Given the description of an element on the screen output the (x, y) to click on. 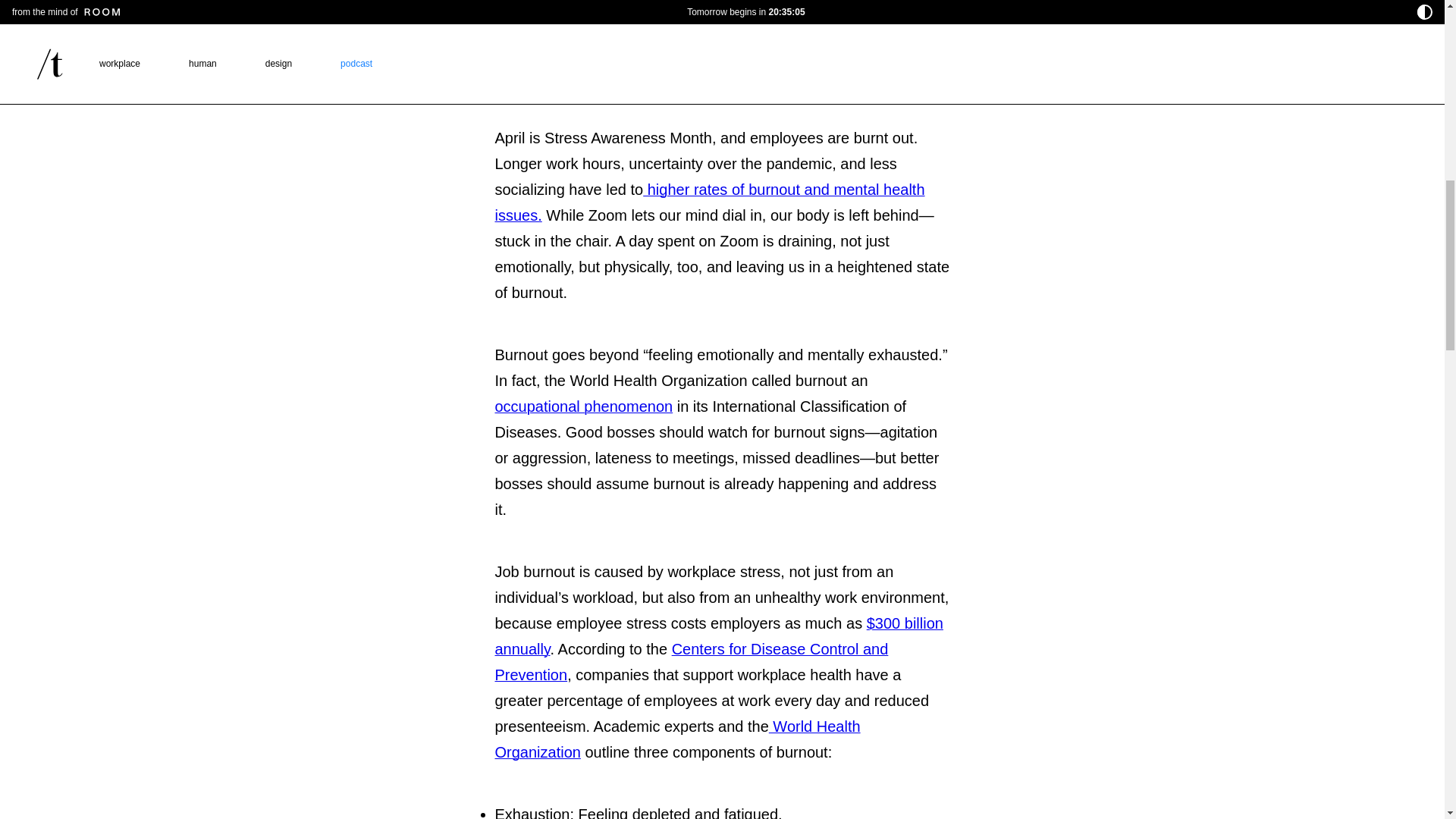
World Health Organization (677, 739)
Centers for Disease Control and Prevention (691, 661)
occupational phenomenon (583, 406)
higher rates of burnout and mental health issues. (709, 201)
